Given the description of an element on the screen output the (x, y) to click on. 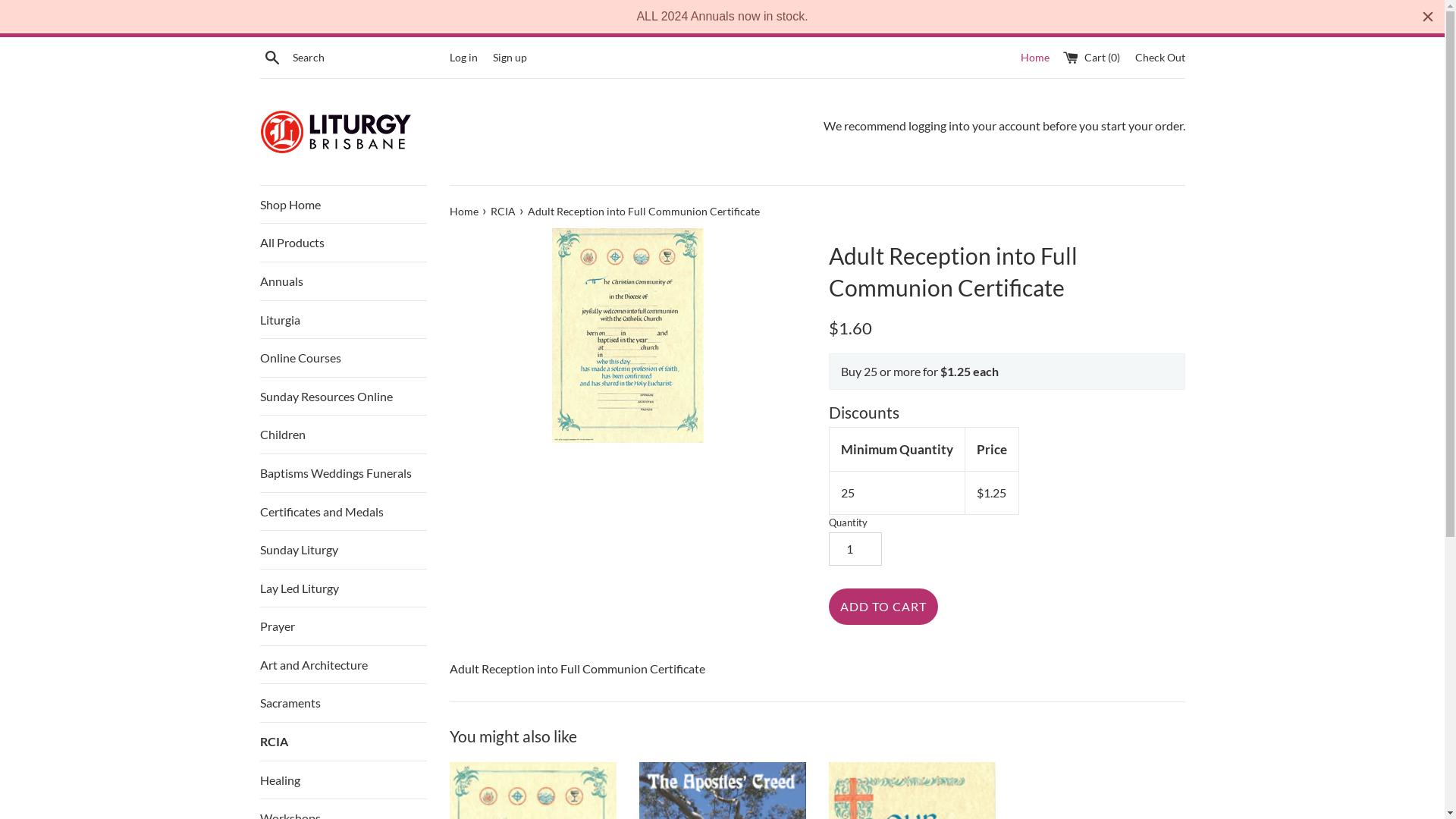
Home Element type: text (464, 210)
Sunday Liturgy Element type: text (342, 549)
Baptisms Weddings Funerals Element type: text (342, 473)
Sign up Element type: text (509, 56)
RCIA Element type: text (342, 741)
All Products Element type: text (342, 242)
Search Element type: text (271, 55)
Shop Home Element type: text (342, 204)
Sacraments Element type: text (342, 702)
Home Element type: text (1034, 56)
Healing Element type: text (342, 780)
Check Out Element type: text (1159, 56)
Children Element type: text (342, 434)
Annuals Element type: text (342, 281)
Online Courses Element type: text (342, 357)
Log in Element type: text (462, 56)
Liturgia Element type: text (342, 319)
Cart (0) Element type: text (1092, 56)
Certificates and Medals Element type: text (342, 511)
RCIA Element type: text (503, 210)
Prayer Element type: text (342, 626)
Sunday Resources Online Element type: text (342, 396)
ADD TO CART Element type: text (882, 606)
Lay Led Liturgy Element type: text (342, 588)
Art and Architecture Element type: text (342, 665)
